Given the description of an element on the screen output the (x, y) to click on. 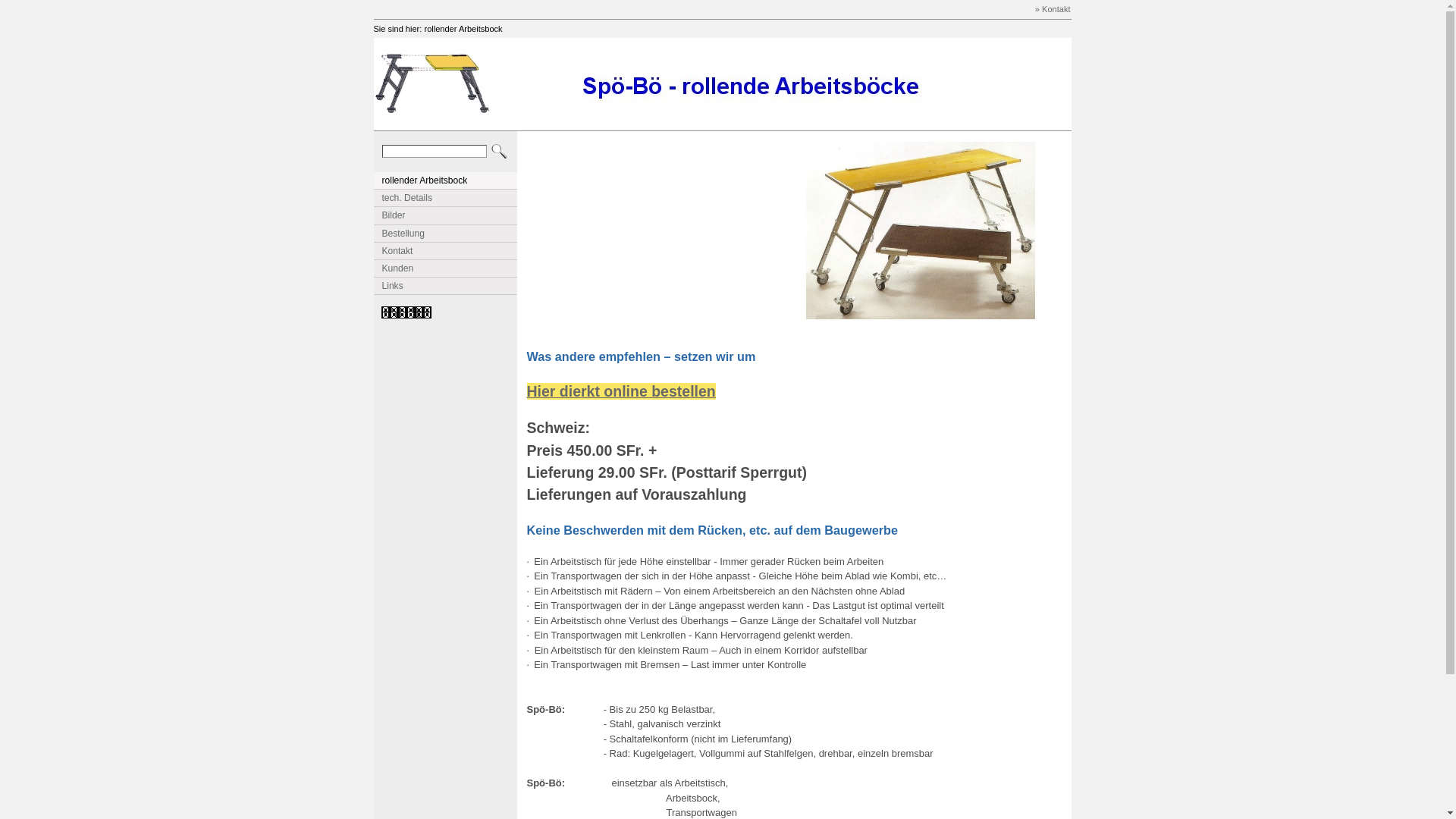
tech. Details Element type: text (445, 197)
Links Element type: text (445, 285)
Hier dierkt online bestellen Element type: text (620, 390)
Spoe_Boe.jpg Element type: hover (431, 83)
Kontakt Element type: text (445, 250)
Bestellung Element type: text (445, 233)
rollender Arbeitsbock Element type: text (445, 180)
Schriftzug_Spoe_Boe.jpg Element type: hover (746, 83)
Kunden Element type: text (445, 268)
rollender Arbeitsbock Element type: text (462, 28)
Bilder Element type: text (445, 215)
